Given the description of an element on the screen output the (x, y) to click on. 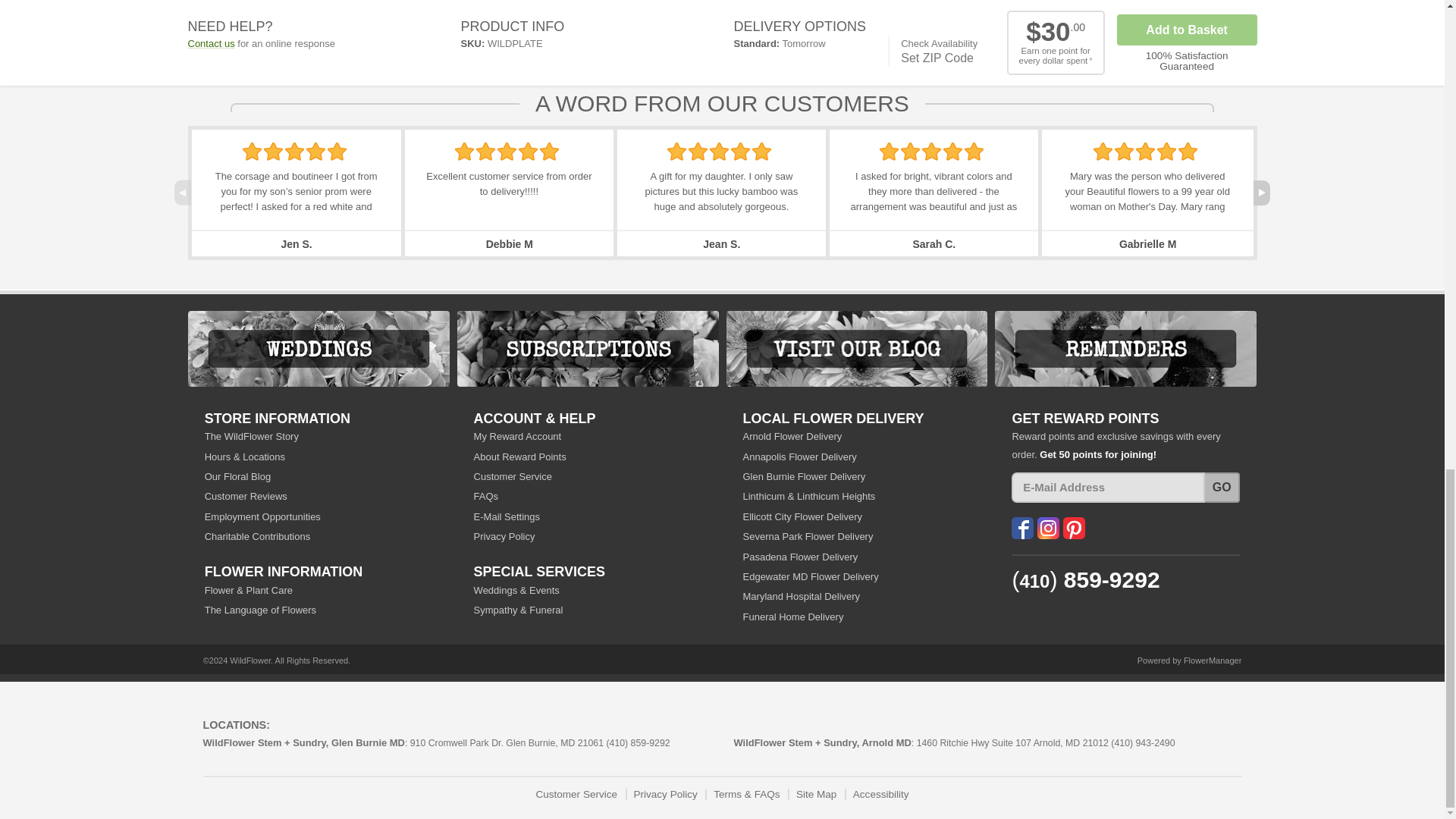
Full Star (294, 151)
Full Star (464, 151)
Full Star (272, 151)
Full Star (675, 151)
Full Star (314, 151)
Full Star (336, 151)
Full Star (506, 151)
Full Star (527, 151)
Full Star (549, 151)
Full Star (485, 151)
Full Star (252, 151)
